Given the description of an element on the screen output the (x, y) to click on. 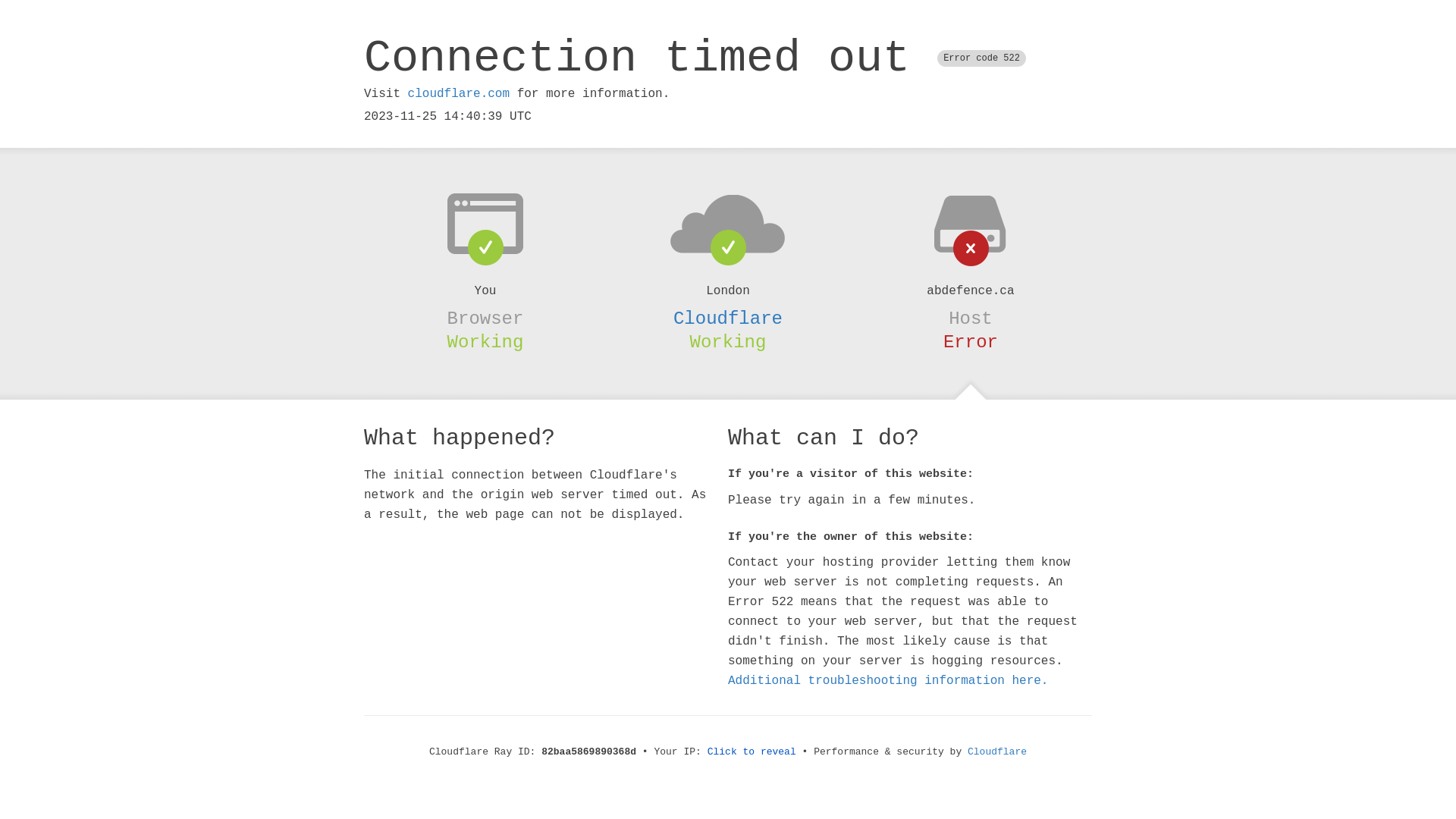
Additional troubleshooting information here. Element type: text (888, 680)
Cloudflare Element type: text (996, 751)
Click to reveal Element type: text (751, 751)
Cloudflare Element type: text (727, 318)
cloudflare.com Element type: text (458, 93)
